Given the description of an element on the screen output the (x, y) to click on. 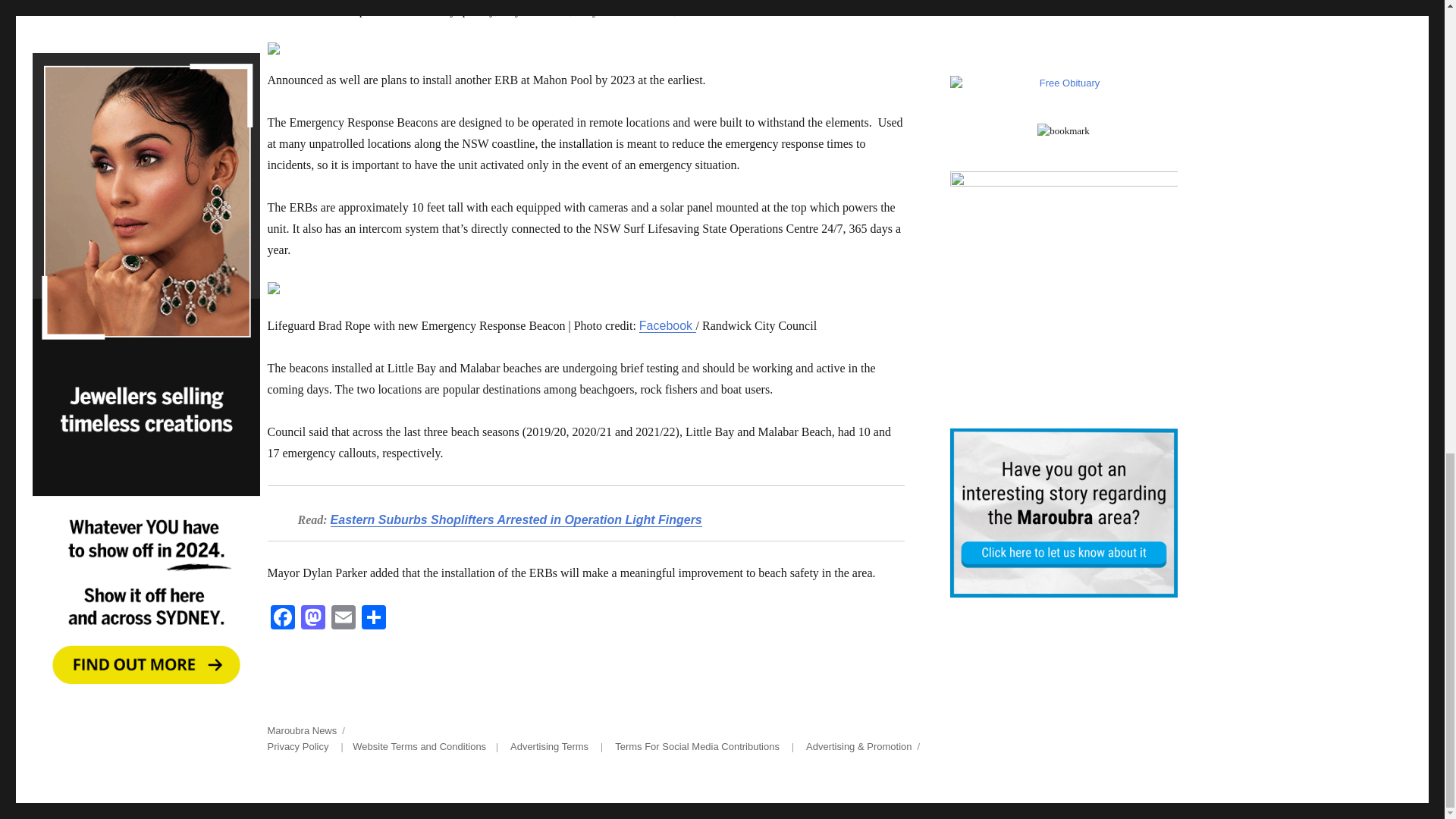
Privacy Policy (297, 746)
Share (373, 619)
Mastodon (312, 619)
Email (342, 619)
Maroubra News (301, 730)
Website Terms and Conditions (419, 746)
Facebook (667, 325)
Mastodon (312, 619)
Facebook (281, 619)
